Given the description of an element on the screen output the (x, y) to click on. 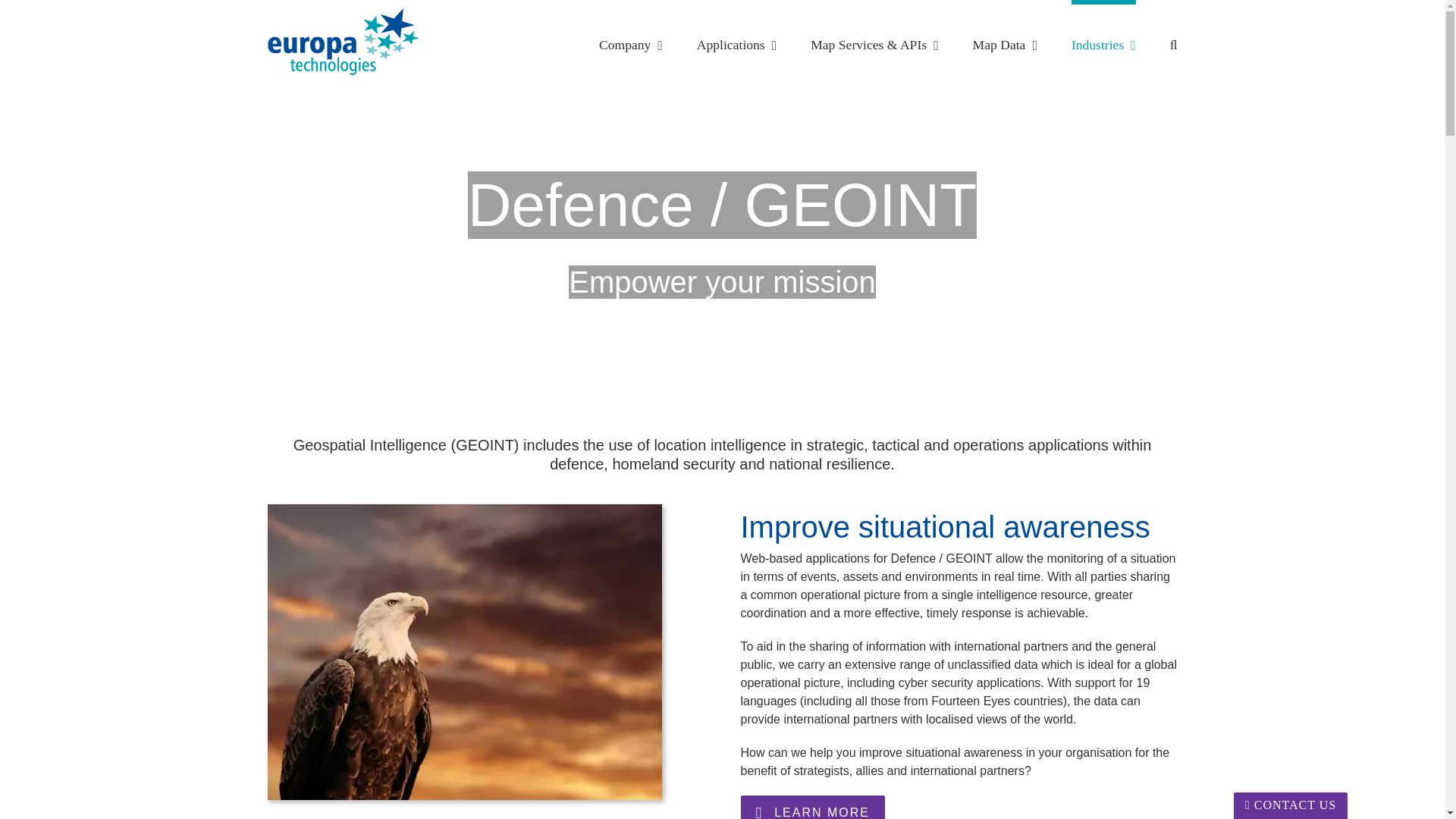
Contact Us (1290, 805)
Applications (736, 43)
